Given the description of an element on the screen output the (x, y) to click on. 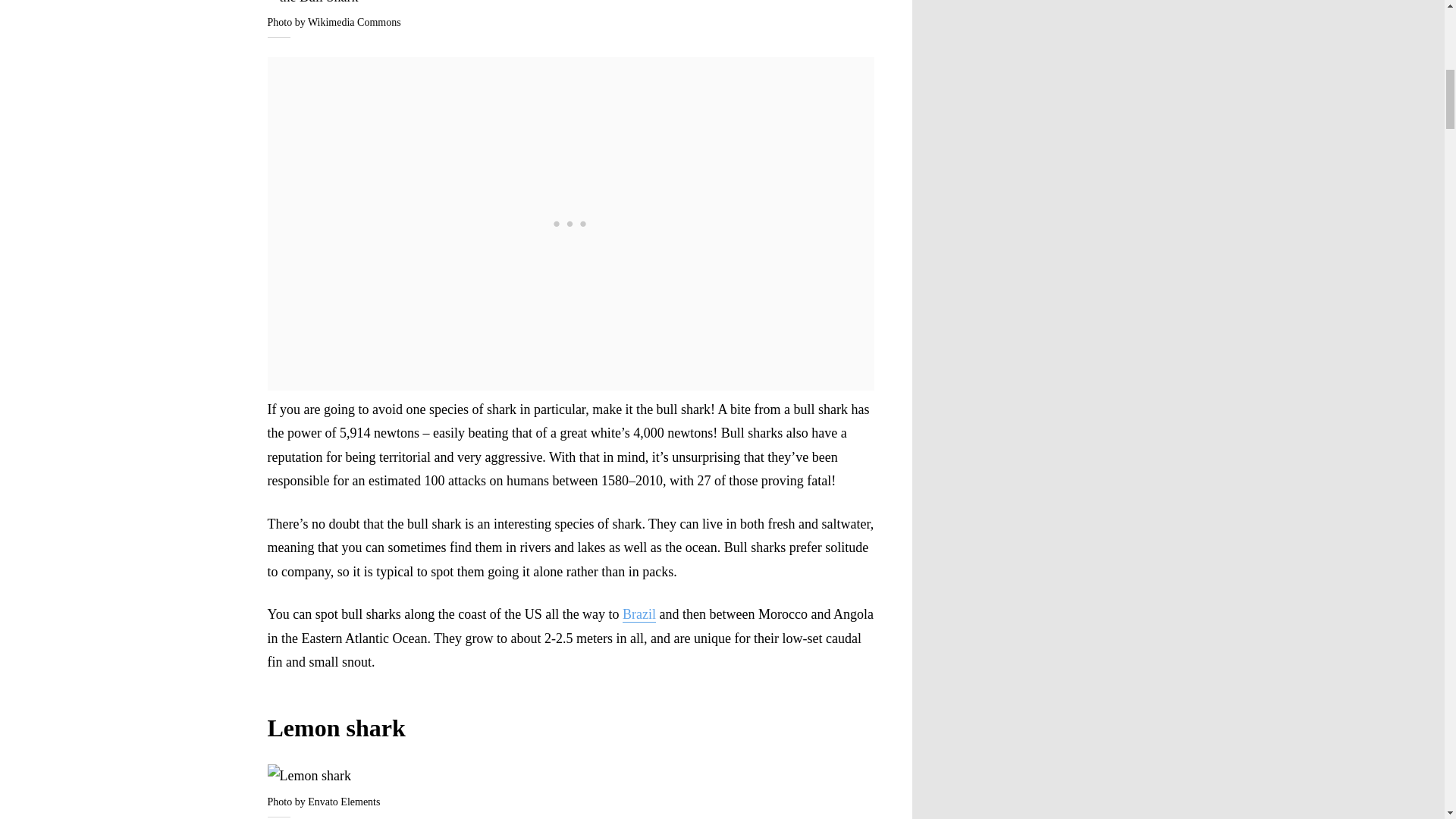
Brazil (639, 613)
